Given the description of an element on the screen output the (x, y) to click on. 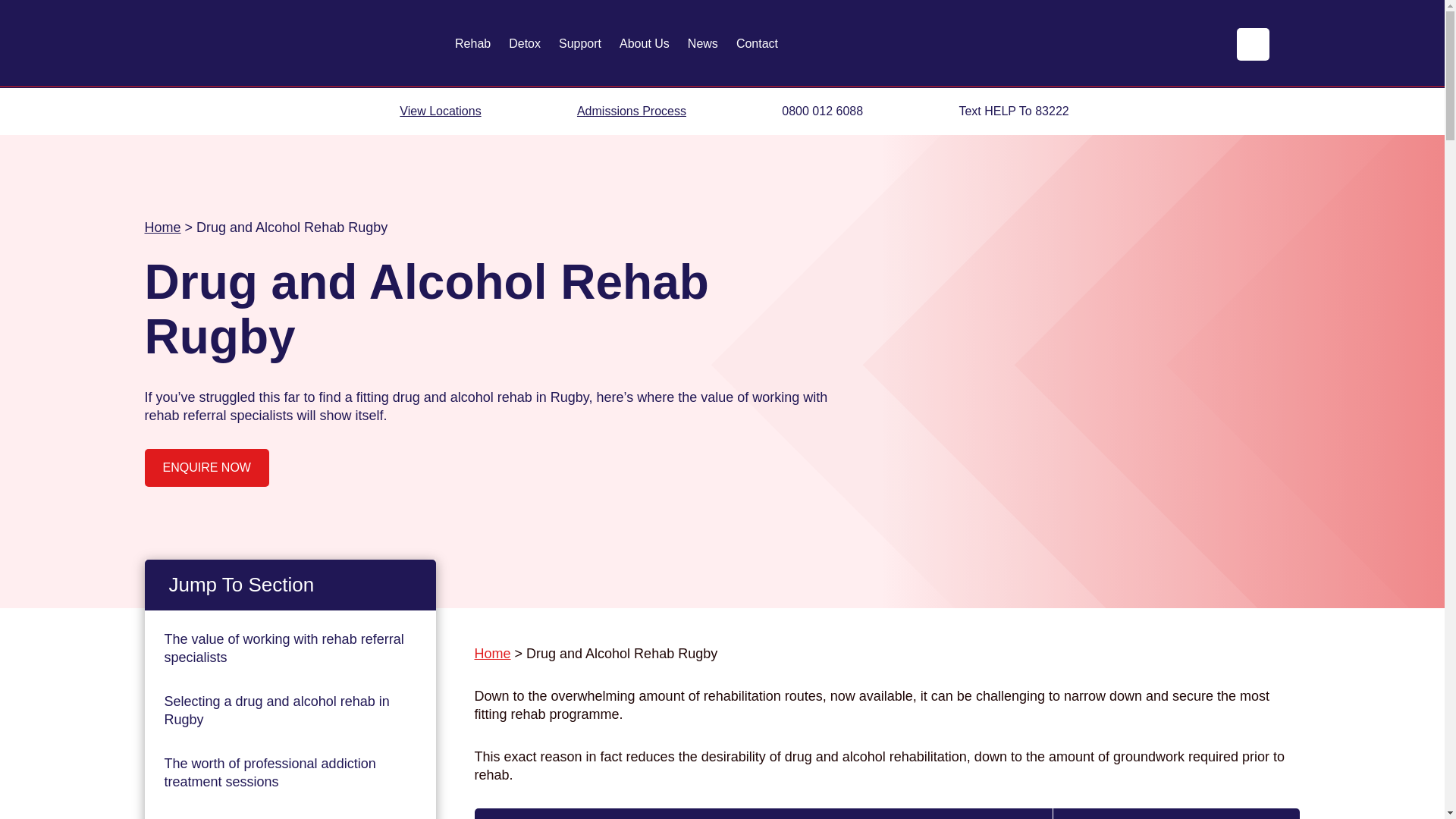
Rehab (472, 44)
